Given the description of an element on the screen output the (x, y) to click on. 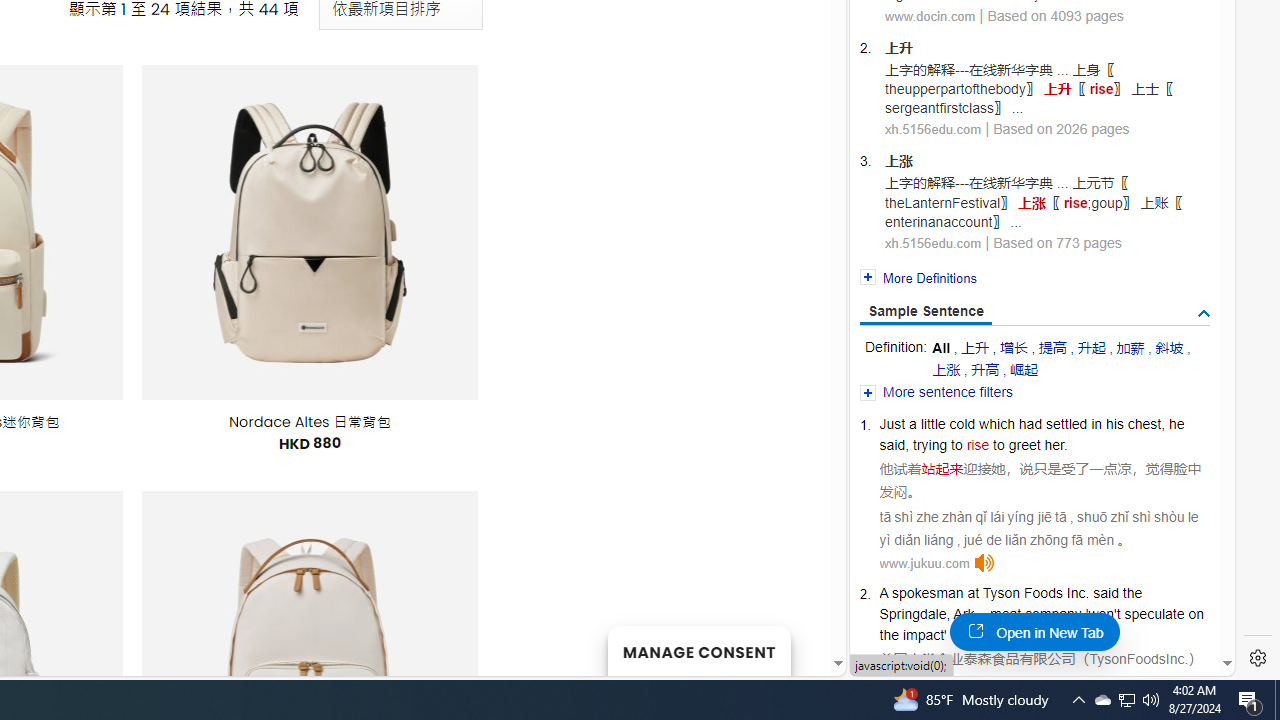
www.jukuu.com (924, 562)
speculate (1154, 614)
www.docin.com (929, 15)
TysonFoodsInc (1137, 658)
